Given the description of an element on the screen output the (x, y) to click on. 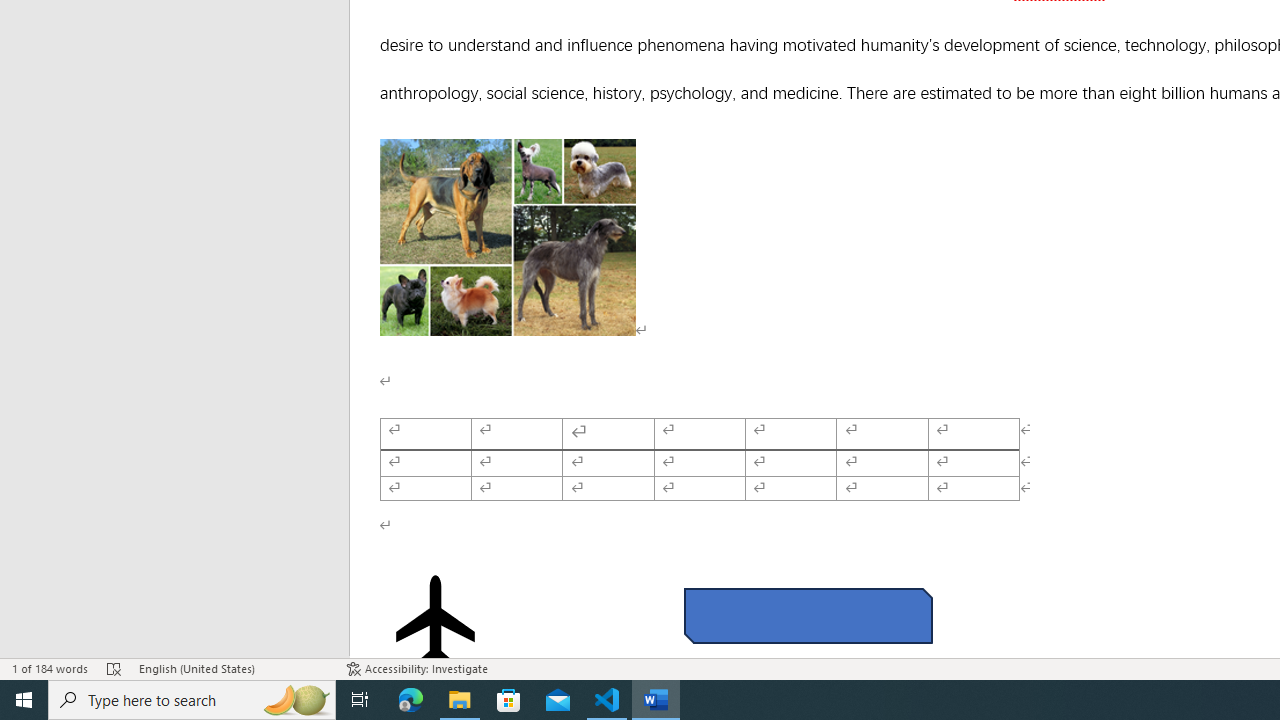
Spelling and Grammar Check Errors (114, 668)
Morphological variation in six dogs (508, 237)
Airplane with solid fill (435, 620)
Rectangle: Diagonal Corners Snipped 2 (808, 615)
Accessibility Checker Accessibility: Investigate (417, 668)
Language English (United States) (232, 668)
